Given the description of an element on the screen output the (x, y) to click on. 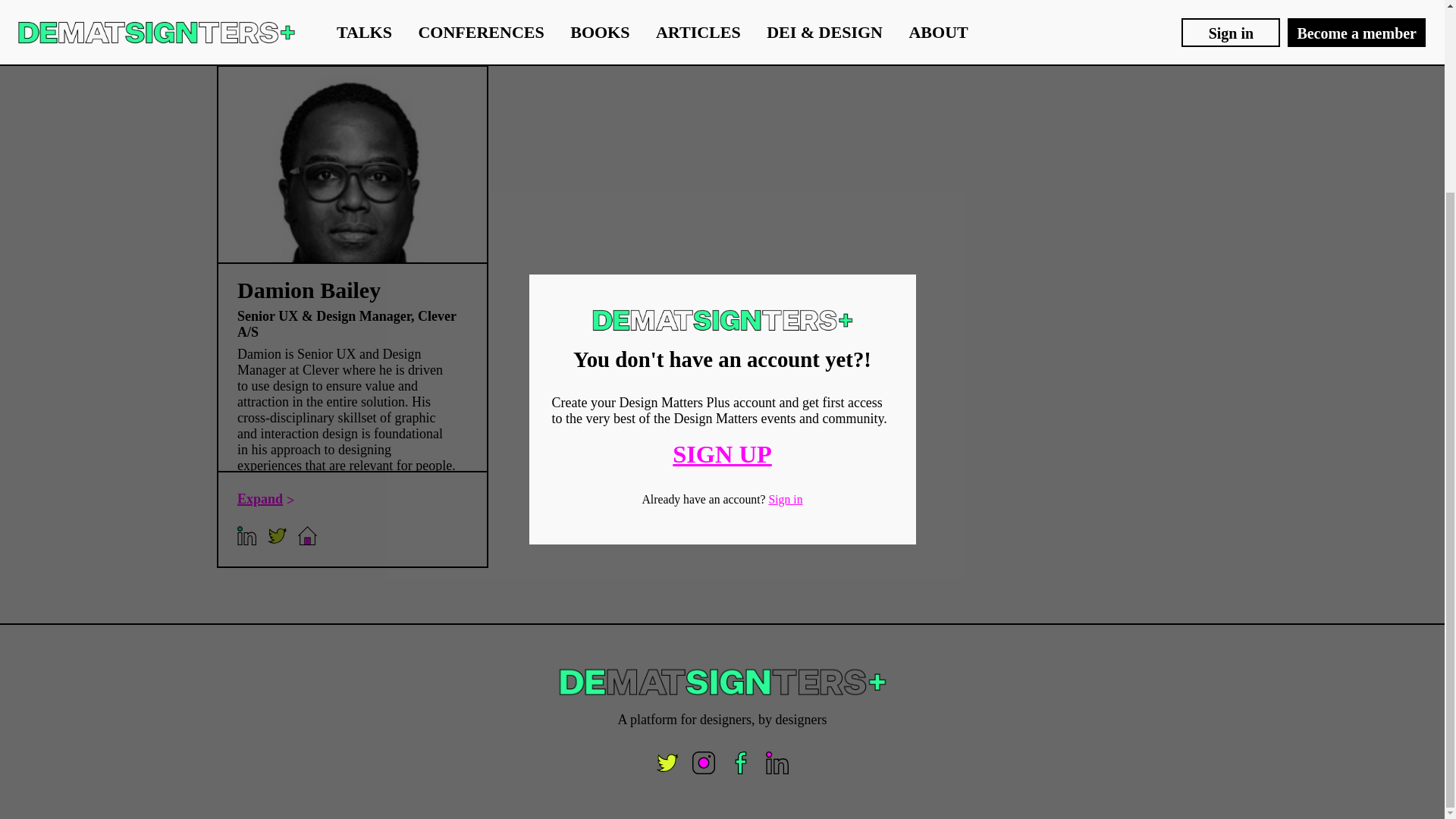
Sign in (785, 257)
SIGN UP (721, 212)
Expand (265, 498)
